Given the description of an element on the screen output the (x, y) to click on. 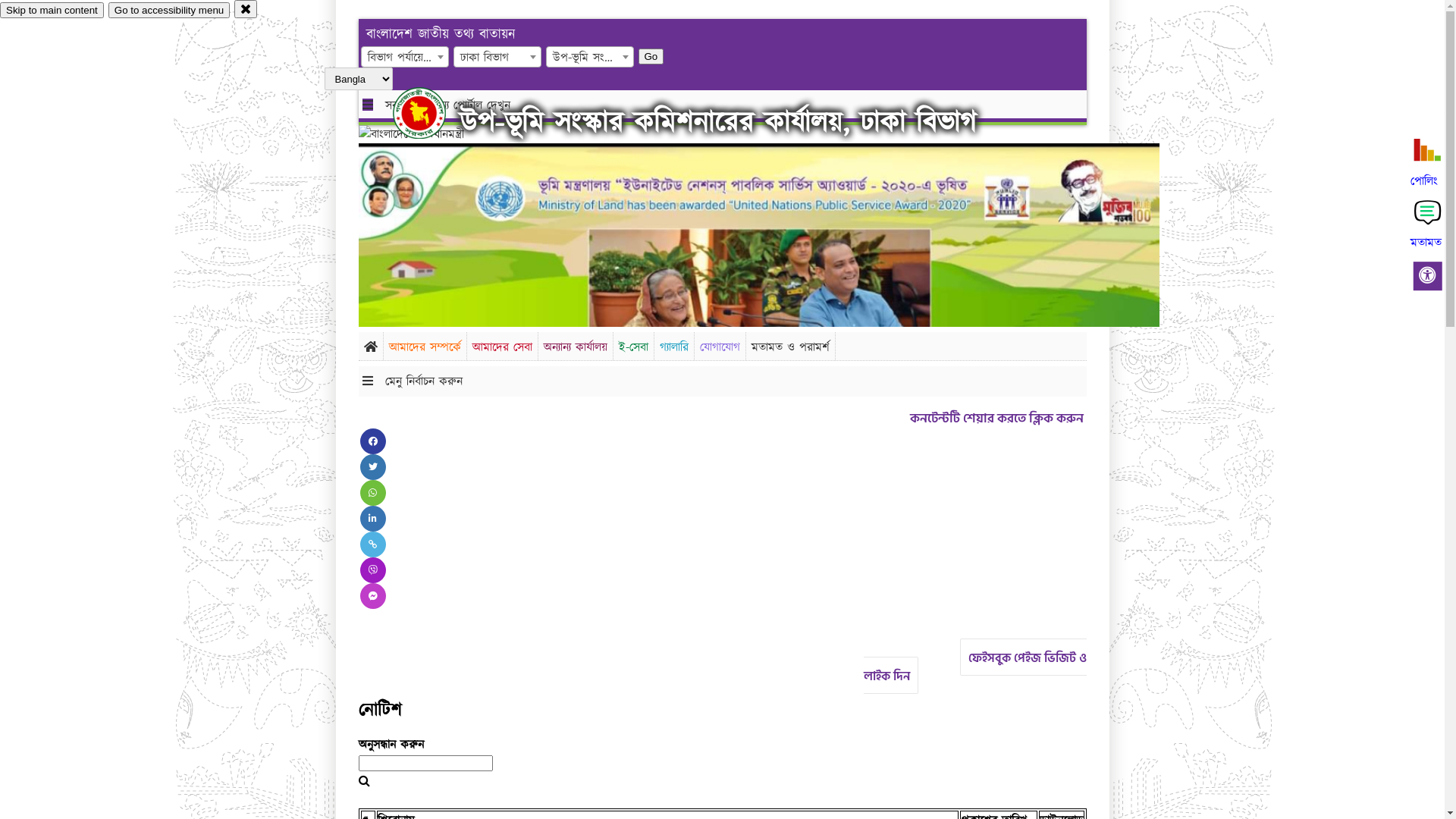
Skip to main content Element type: text (51, 10)

                
             Element type: hover (431, 112)
Go Element type: text (651, 56)
Go to accessibility menu Element type: text (168, 10)
close Element type: hover (245, 9)
